Given the description of an element on the screen output the (x, y) to click on. 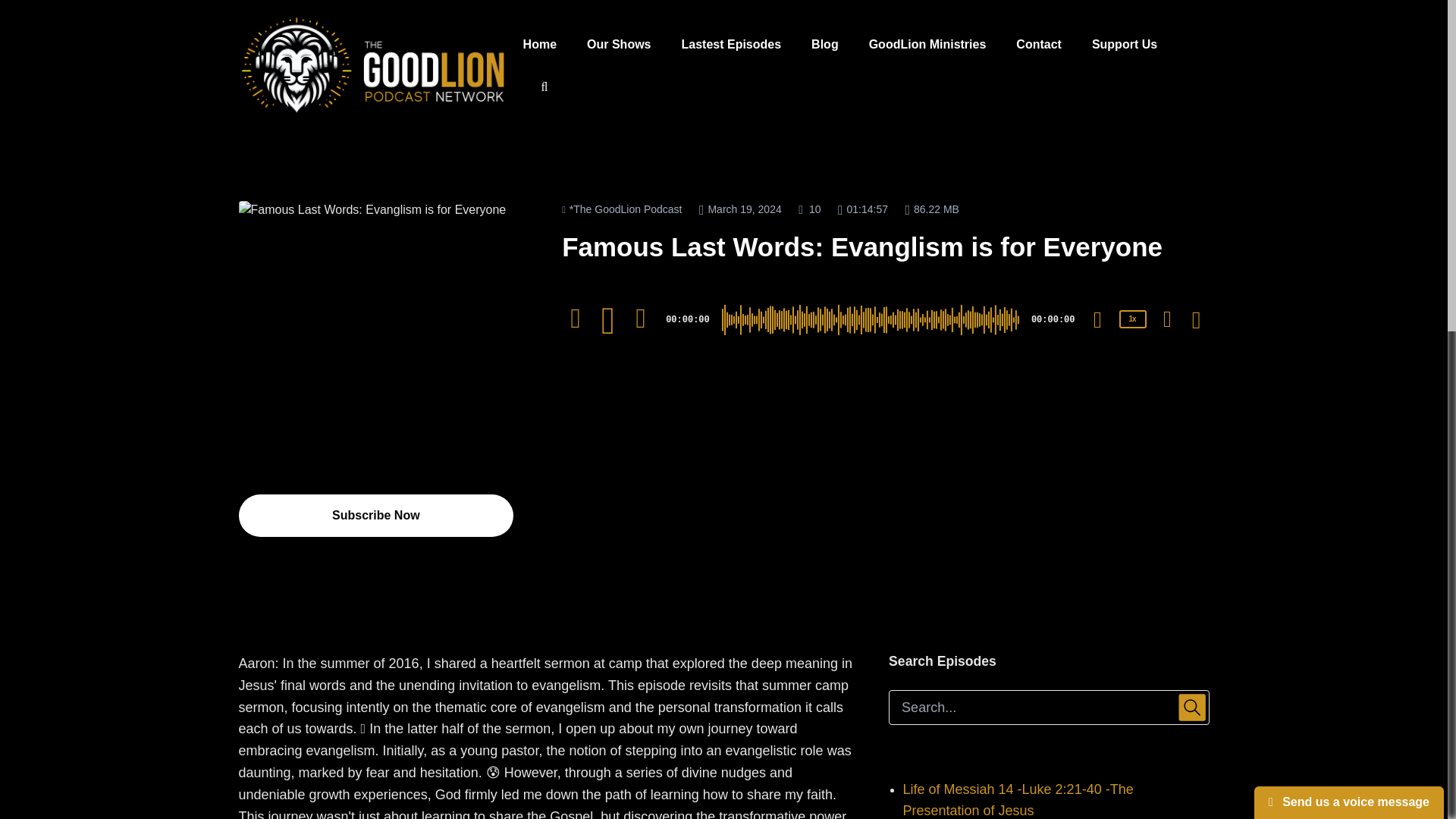
Blog (824, 45)
Home (540, 45)
Download Episode (1171, 320)
Podcast (621, 209)
Jump forward 30 seconds (640, 318)
30 (640, 318)
Contact (1039, 45)
10 (575, 318)
Episode Duration (863, 208)
Our Shows (618, 45)
GoodLion Ministries (927, 45)
Date (739, 208)
Play (608, 320)
Mute (1097, 319)
Subscribe Now (375, 515)
